Given the description of an element on the screen output the (x, y) to click on. 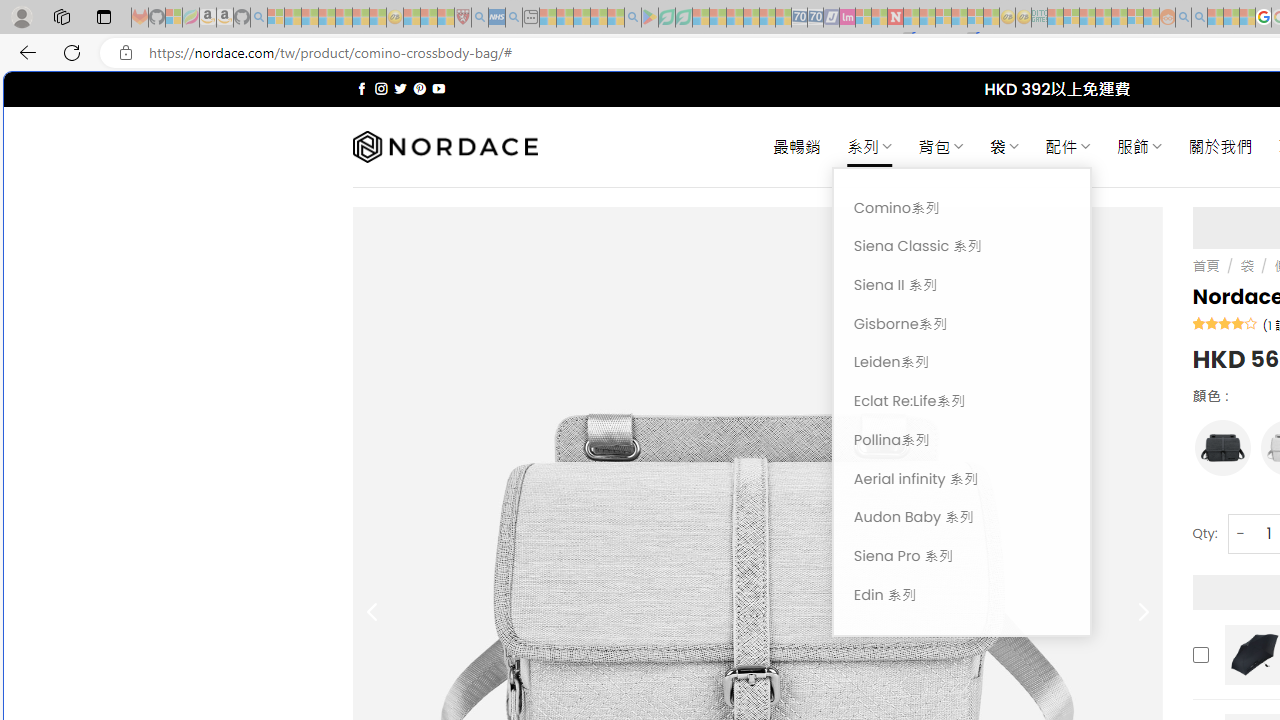
Robert H. Shmerling, MD - Harvard Health - Sleeping (462, 17)
Follow on Twitter (400, 88)
14 Common Myths Debunked By Scientific Facts - Sleeping (927, 17)
Kinda Frugal - MSN - Sleeping (1119, 17)
Terms of Use Agreement - Sleeping (666, 17)
